Given the description of an element on the screen output the (x, y) to click on. 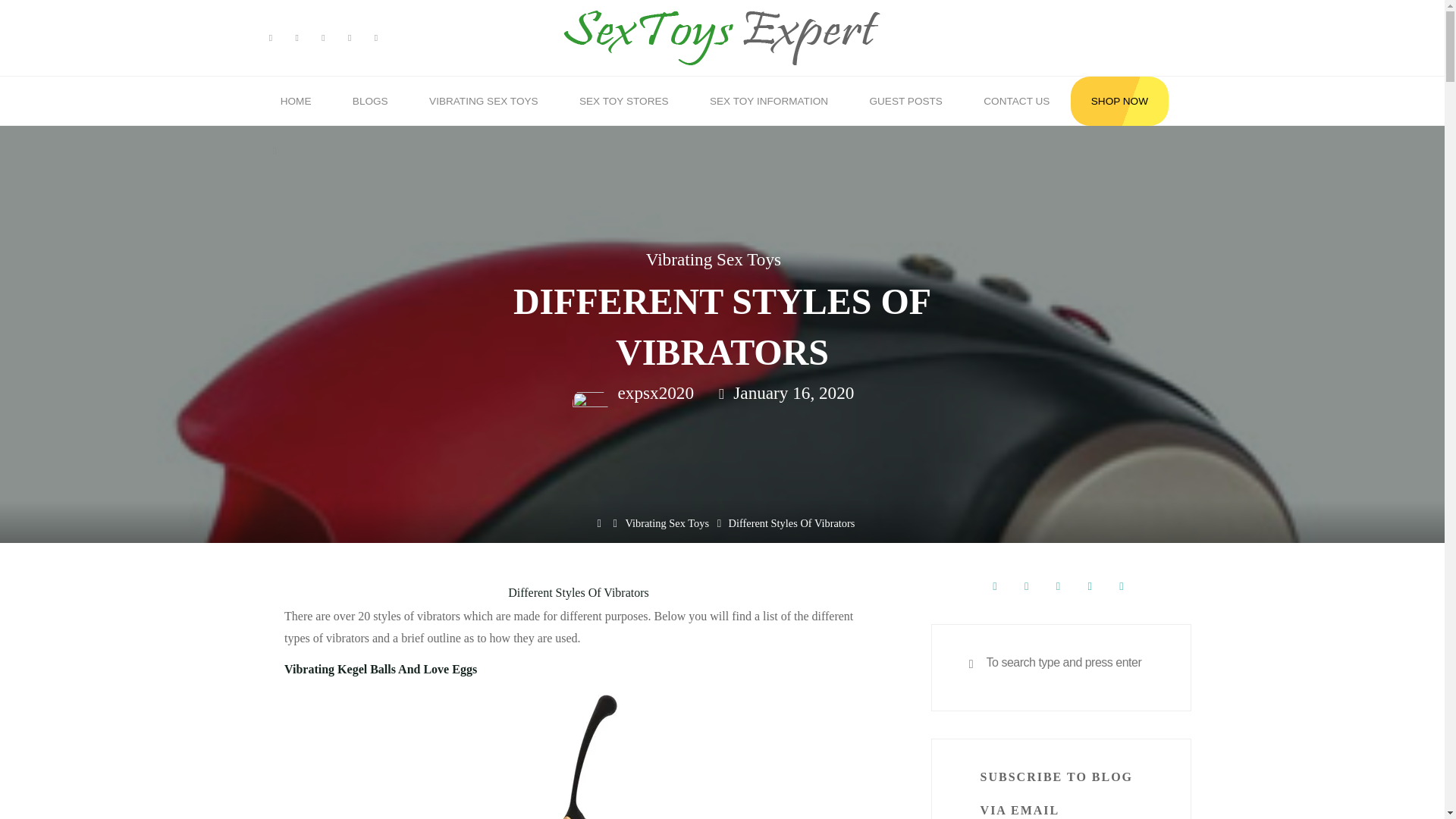
Vibrating Sex Toys (713, 260)
SHOP NOW (1119, 101)
expsx2020 (653, 393)
SEX TOY INFORMATION (768, 101)
CONTACT US (1016, 101)
BLOGS (370, 101)
GUEST POSTS (905, 101)
SEX TOY STORES (623, 101)
VIBRATING SEX TOYS (484, 101)
Twitter (296, 38)
HOME (295, 101)
Facebook (270, 38)
Youtube (323, 38)
Instagram (350, 38)
Tiktok (376, 38)
